Given the description of an element on the screen output the (x, y) to click on. 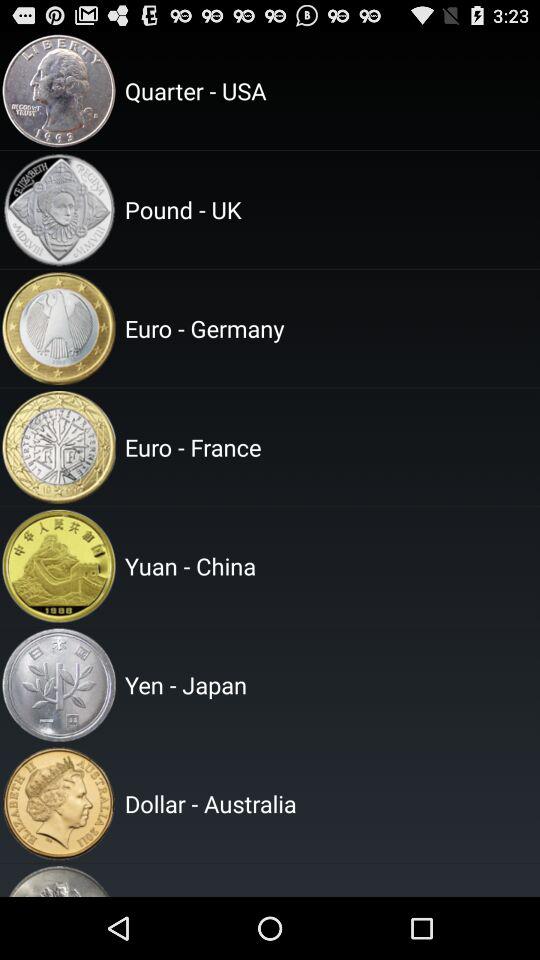
click euro - germany icon (329, 328)
